Given the description of an element on the screen output the (x, y) to click on. 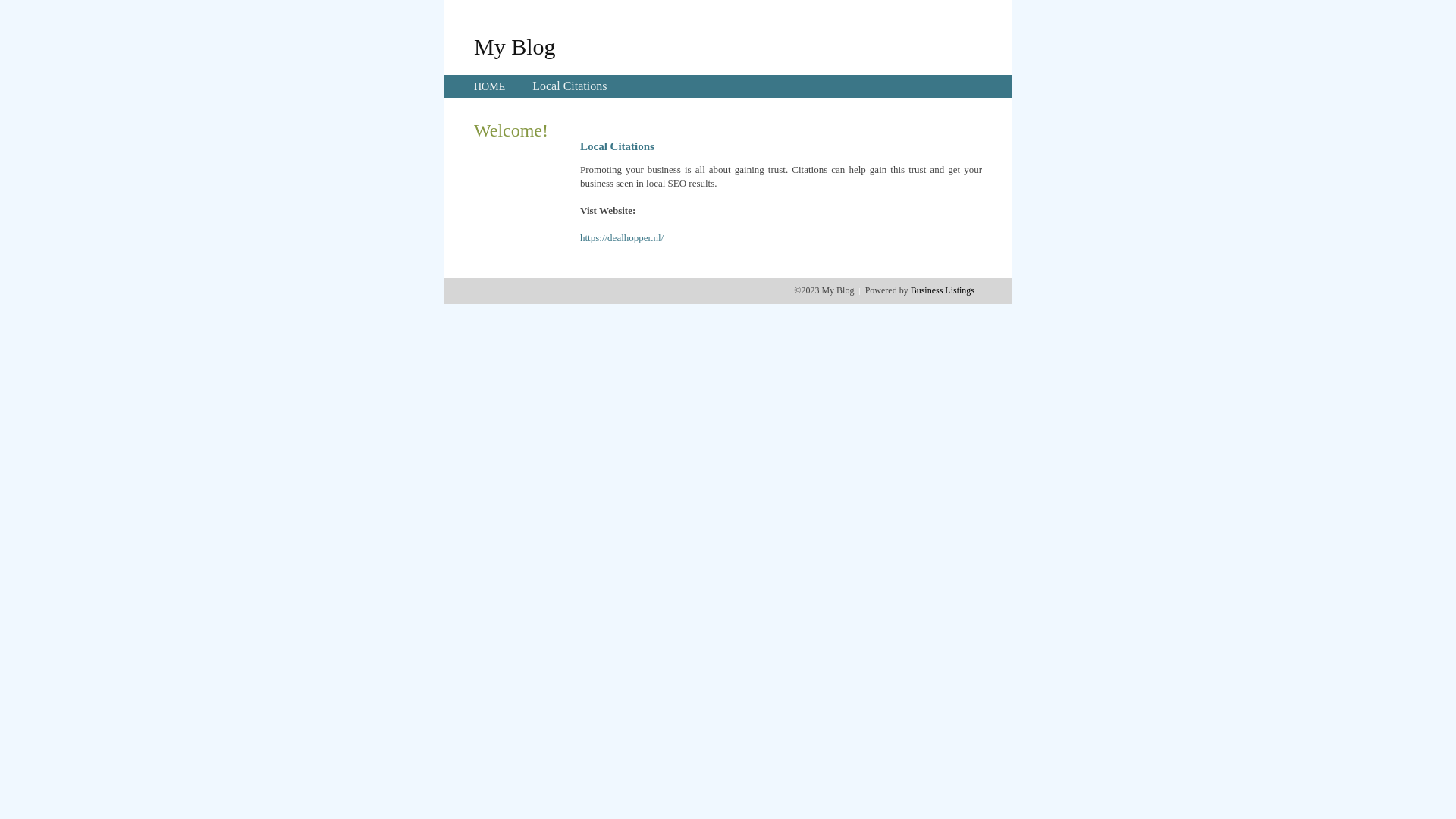
My Blog Element type: text (514, 46)
Business Listings Element type: text (942, 290)
HOME Element type: text (489, 86)
Local Citations Element type: text (569, 85)
https://dealhopper.nl/ Element type: text (621, 237)
